Given the description of an element on the screen output the (x, y) to click on. 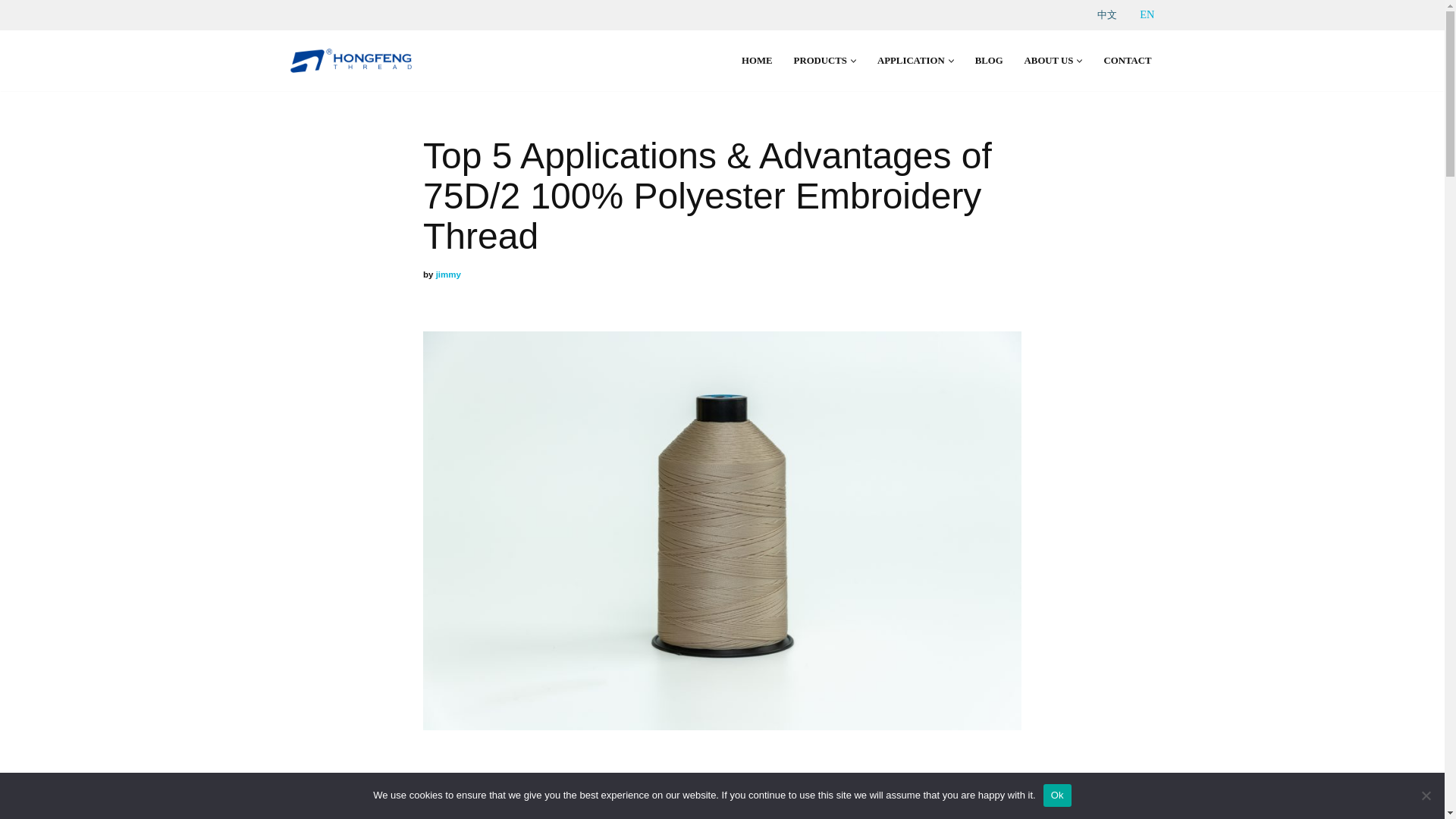
APPLICATION (910, 60)
EN (1147, 14)
ABOUT US (1049, 60)
BLOG (989, 60)
CONTACT (1127, 60)
HOME (757, 60)
Posts by jimmy (448, 274)
PRODUCTS (820, 60)
Skip to content (11, 31)
